Given the description of an element on the screen output the (x, y) to click on. 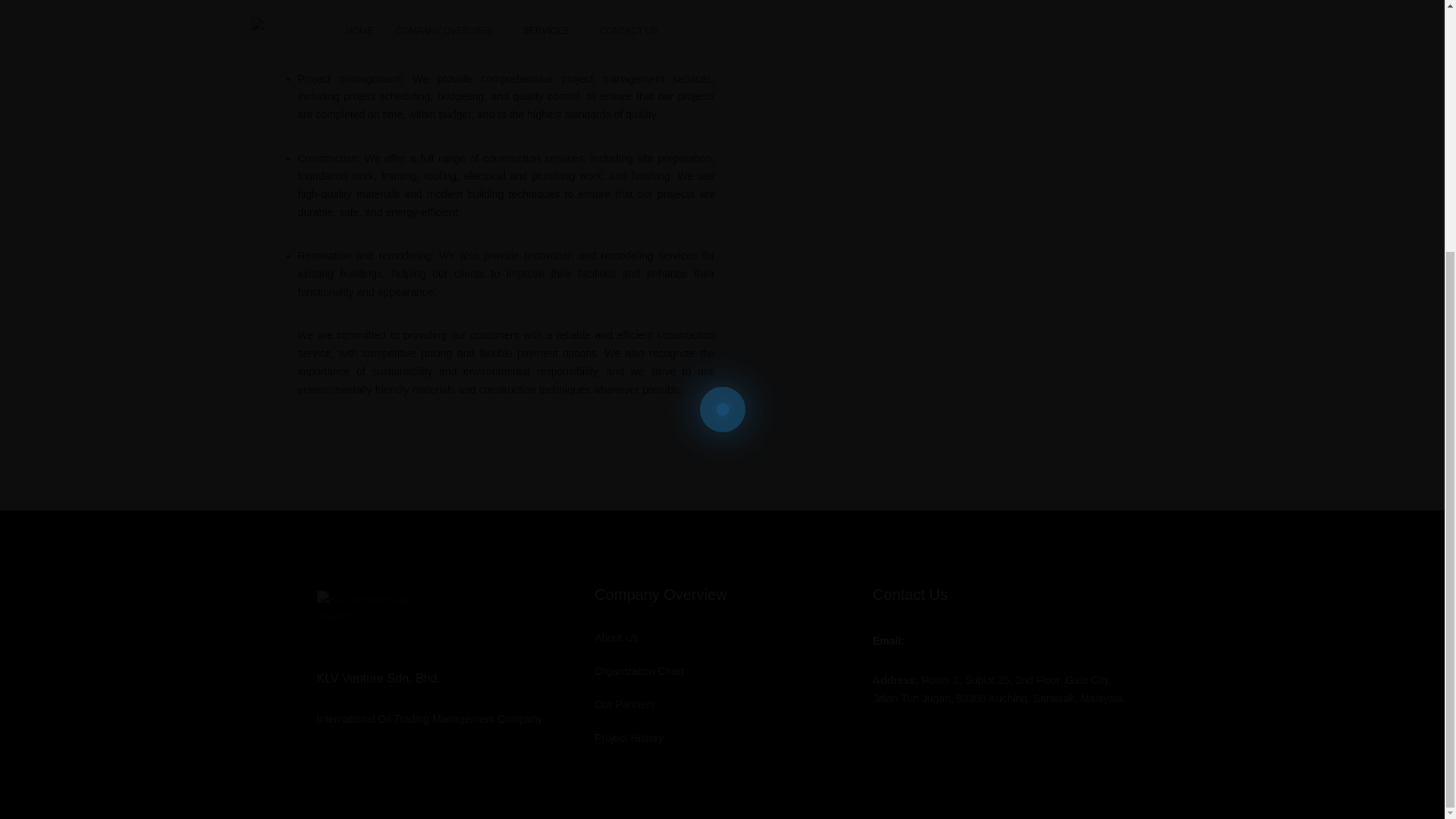
Our Partners (624, 704)
Organization Chart (639, 671)
Project History (628, 737)
About Us (616, 637)
